Given the description of an element on the screen output the (x, y) to click on. 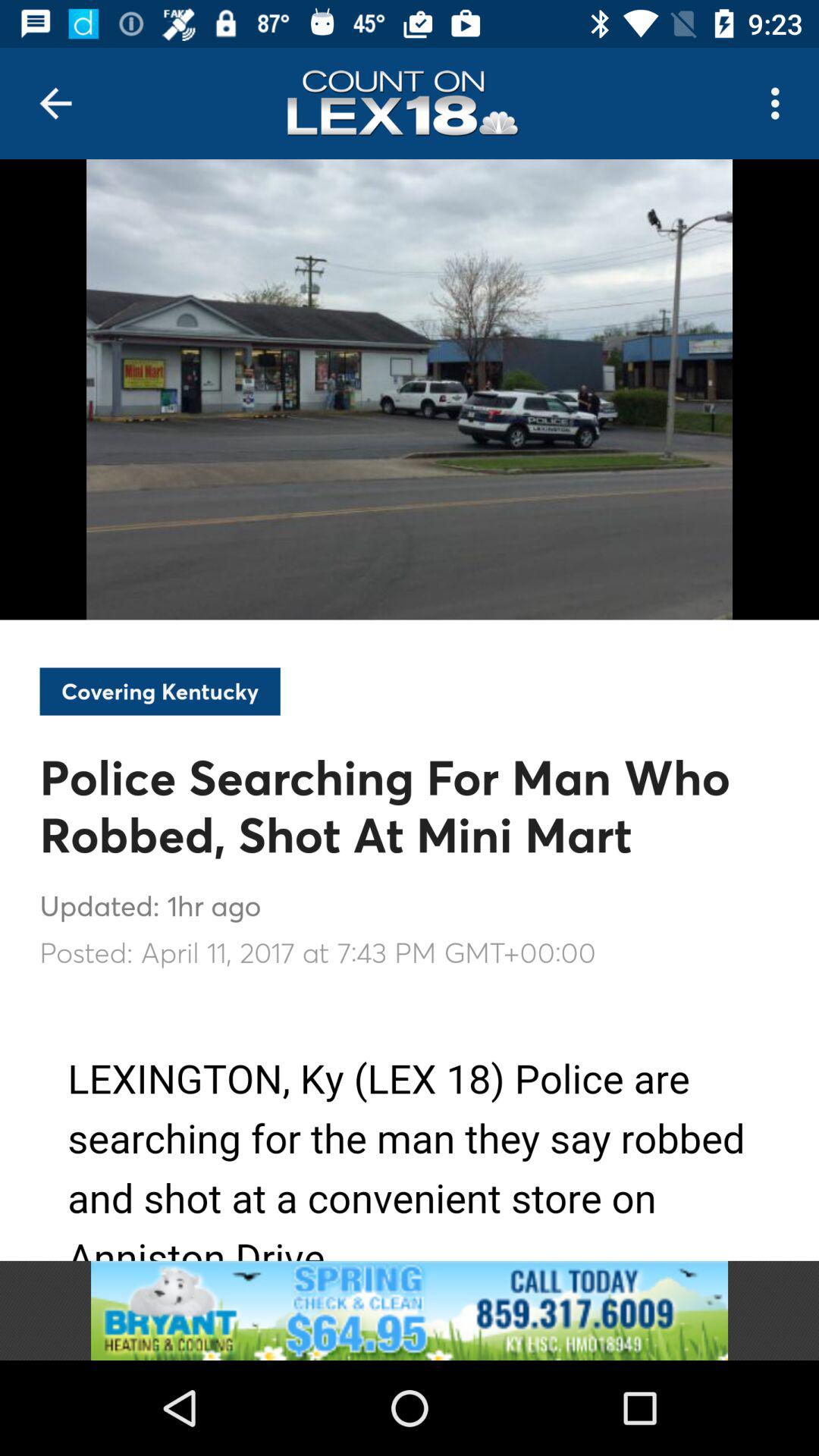
bryant heating and cooling advertisement (409, 1310)
